Given the description of an element on the screen output the (x, y) to click on. 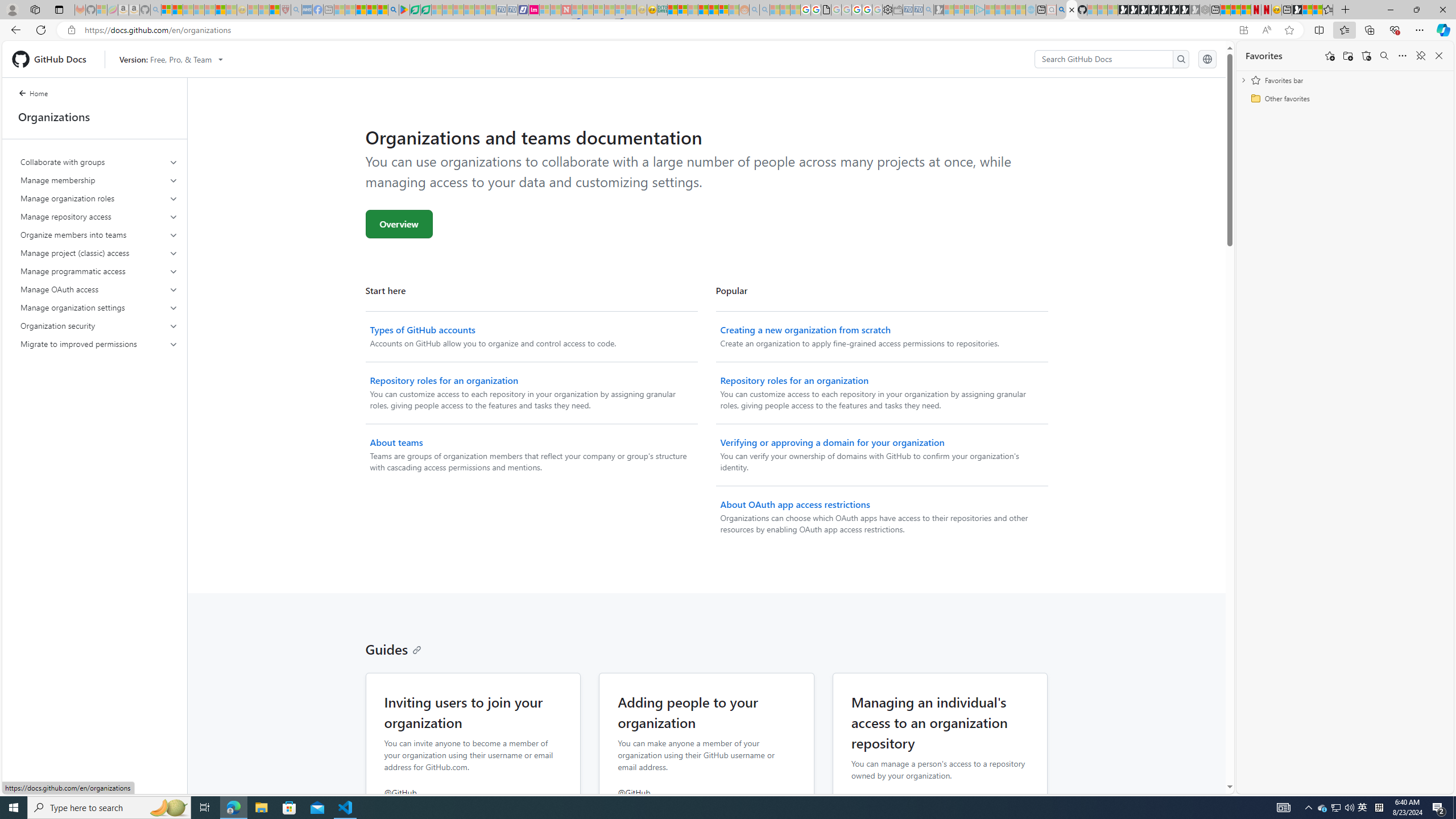
Search GitHub Docs (1104, 58)
Expert Portfolios (703, 9)
